Given the description of an element on the screen output the (x, y) to click on. 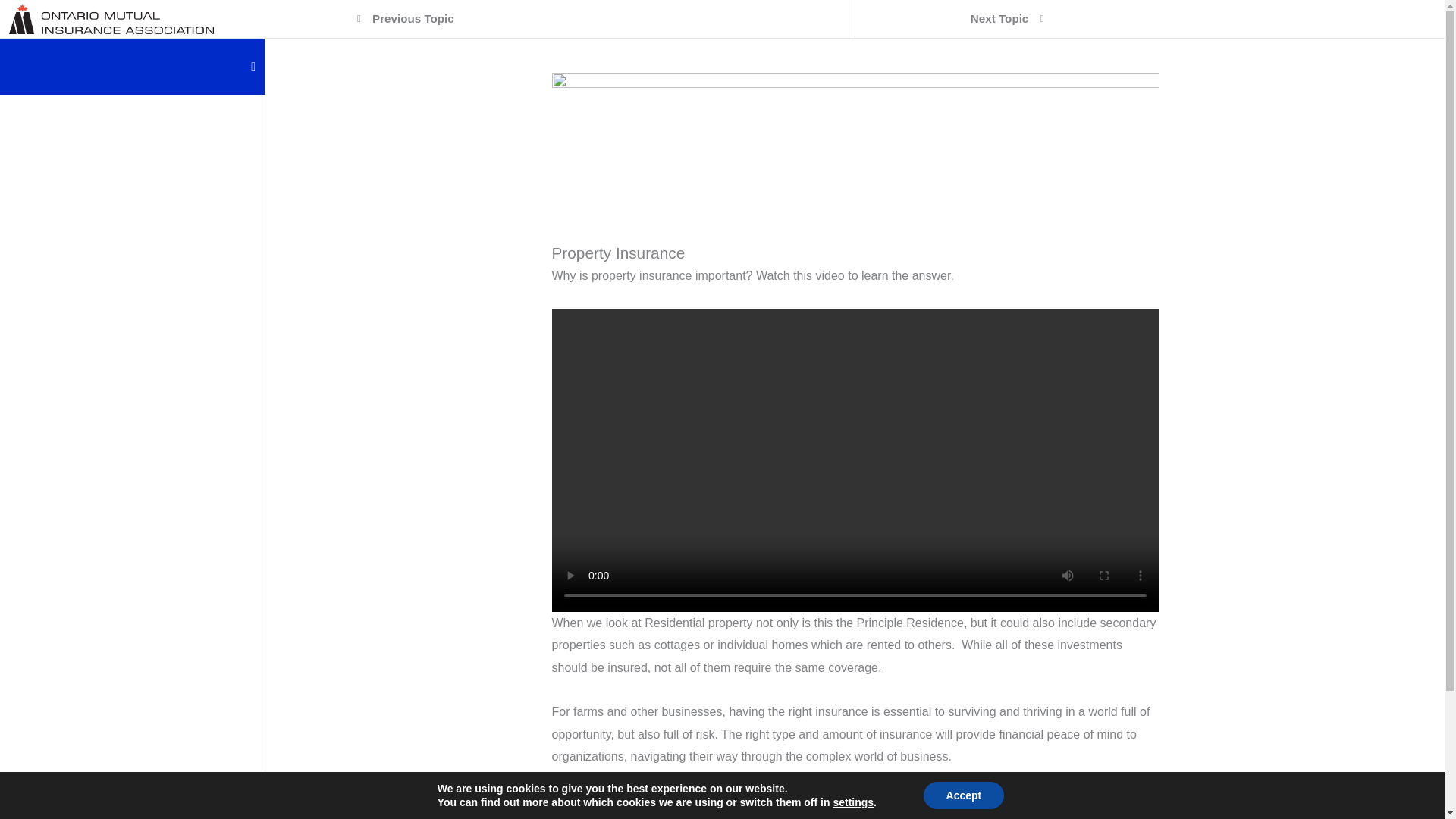
Next Topic (1001, 18)
settings (852, 802)
Accept (963, 795)
Previous Topic (410, 18)
